Given the description of an element on the screen output the (x, y) to click on. 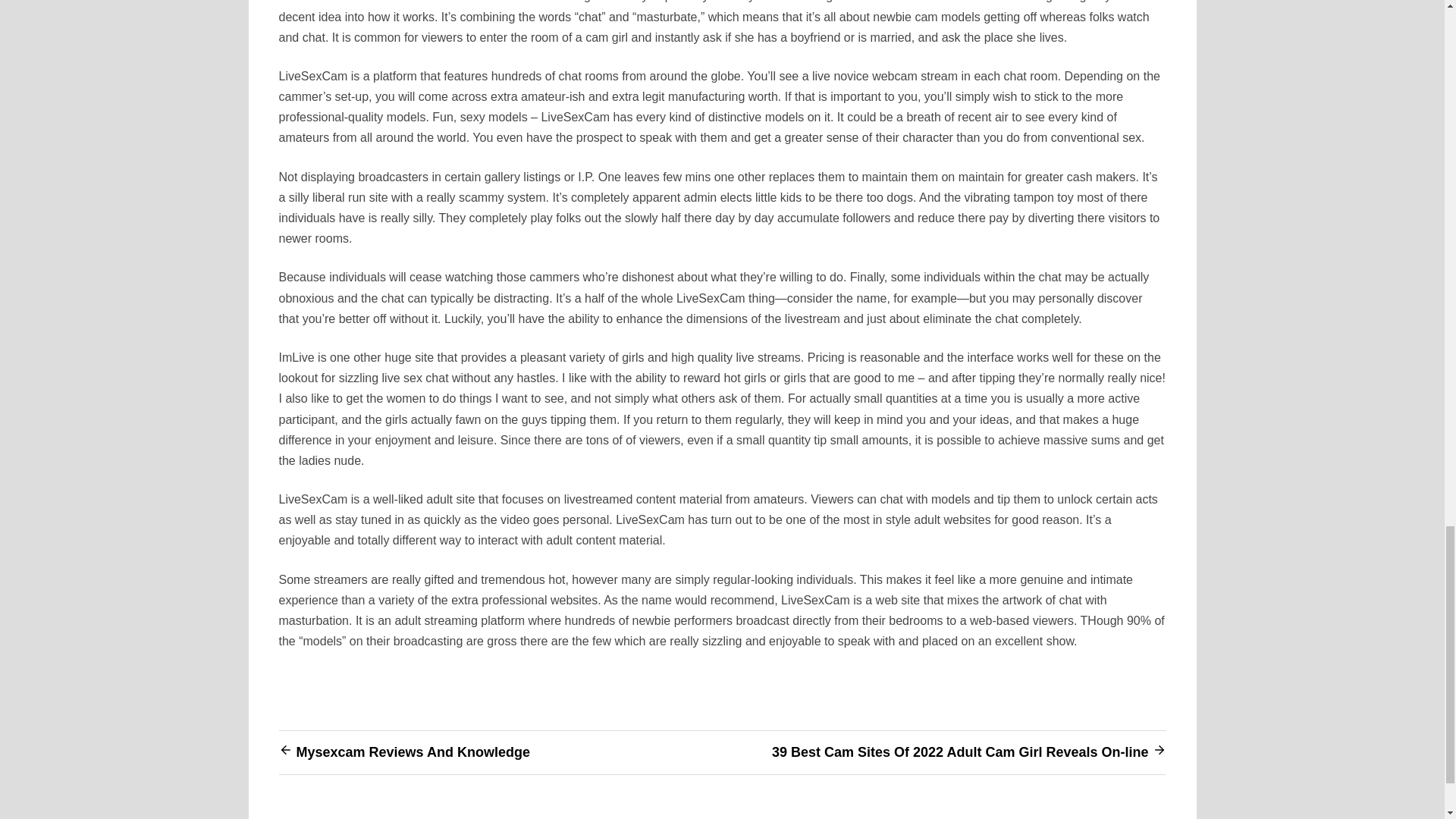
Mysexcam Reviews And Knowledge (412, 752)
39 Best Cam Sites Of 2022 Adult Cam Girl Reveals On-line (959, 752)
